Given the description of an element on the screen output the (x, y) to click on. 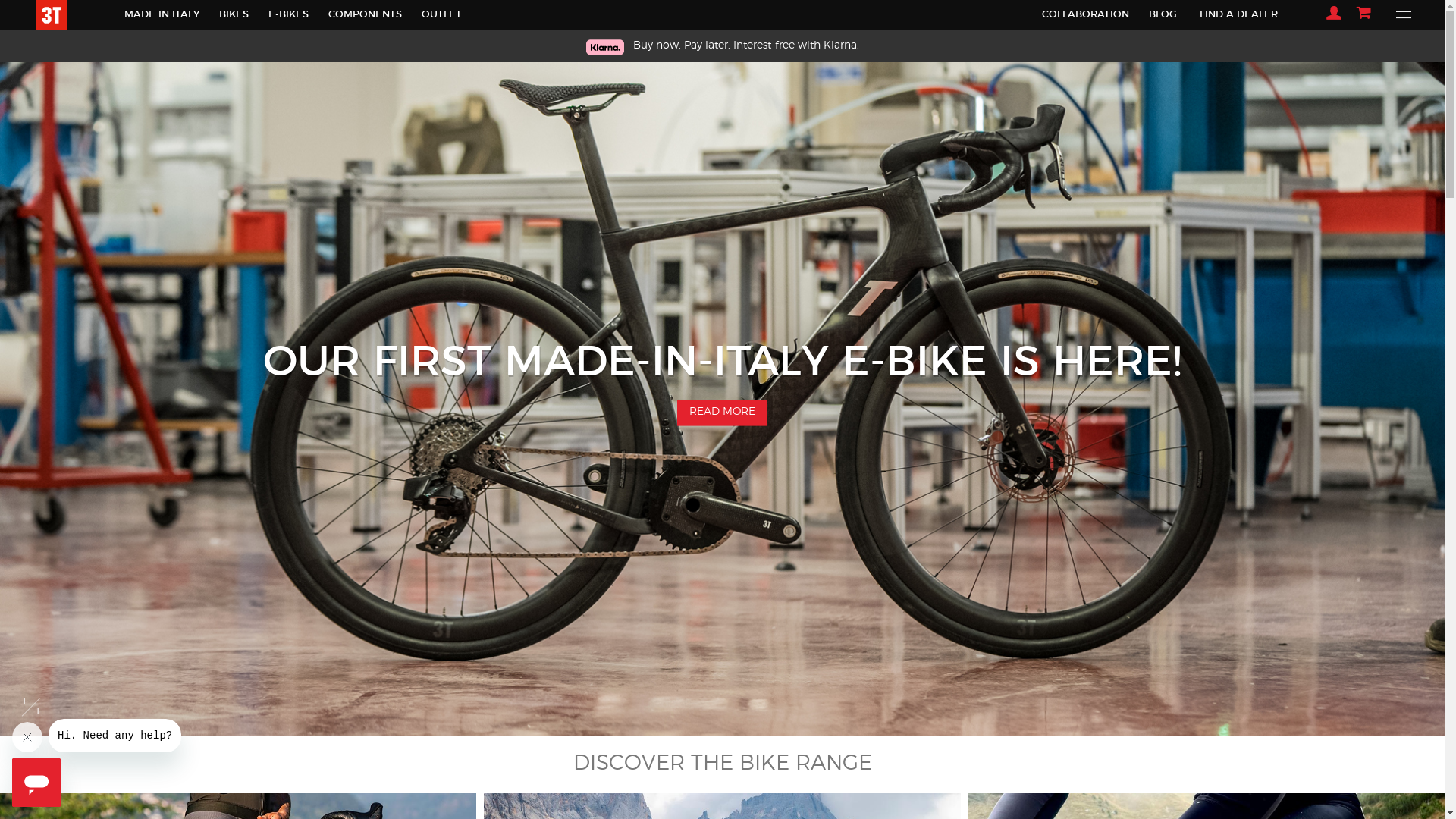
MADE IN ITALY Element type: text (161, 15)
Message from company Element type: hover (114, 735)
COMPONENTS Element type: text (364, 15)
READ MORE Element type: text (722, 412)
COLLABORATION Element type: text (1085, 15)
BIKES Element type: text (233, 15)
DISCOVER THE BIKE RANGE Element type: text (721, 764)
BLOG Element type: text (1162, 15)
FIND A DEALER Element type: text (1238, 15)
OUTLET Element type: text (441, 15)
Button to launch messaging window Element type: hover (36, 782)
E-BIKES Element type: text (288, 15)
Close message Element type: hover (27, 736)
